Given the description of an element on the screen output the (x, y) to click on. 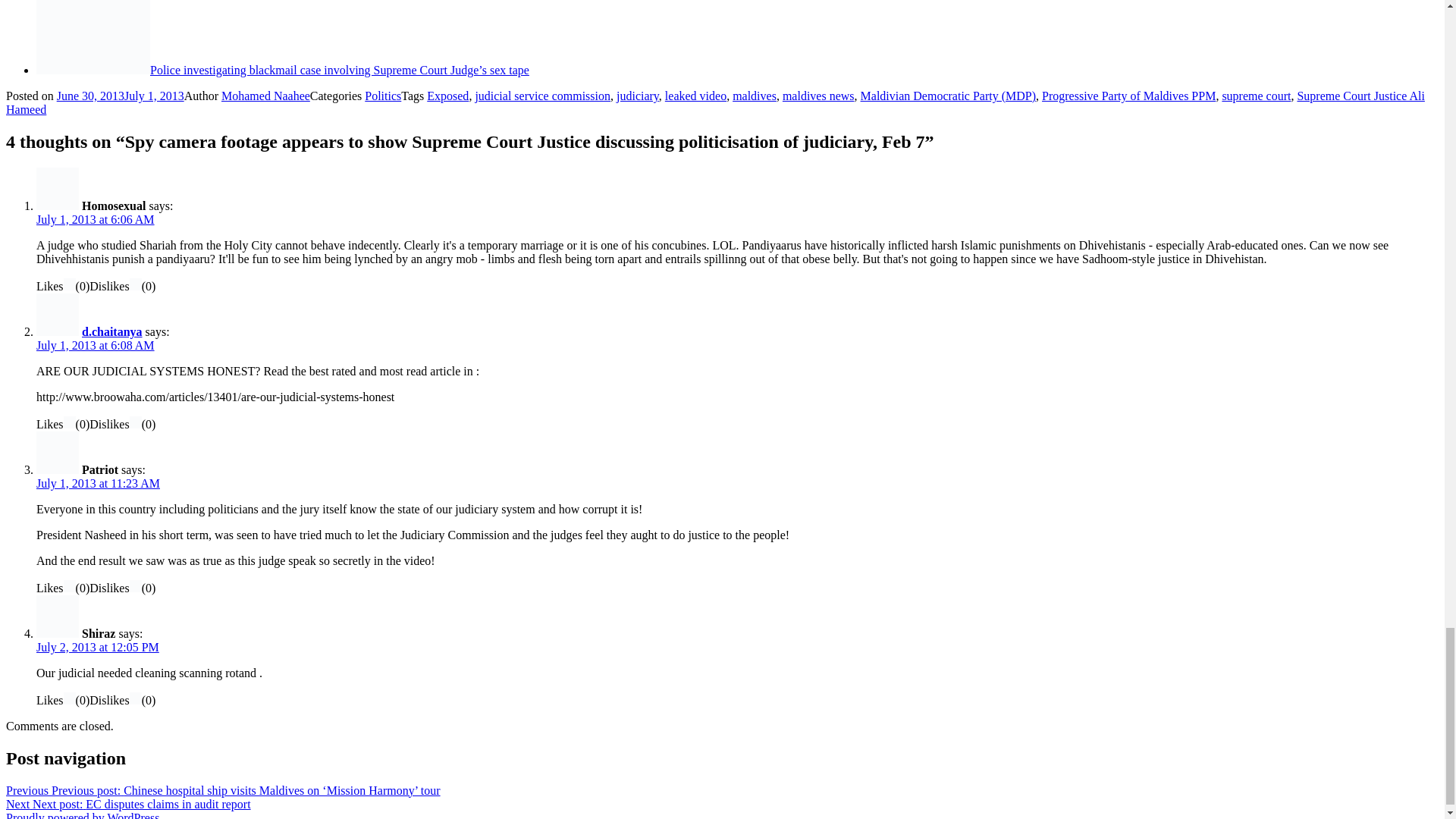
June 30, 2013July 1, 2013 (120, 95)
